Given the description of an element on the screen output the (x, y) to click on. 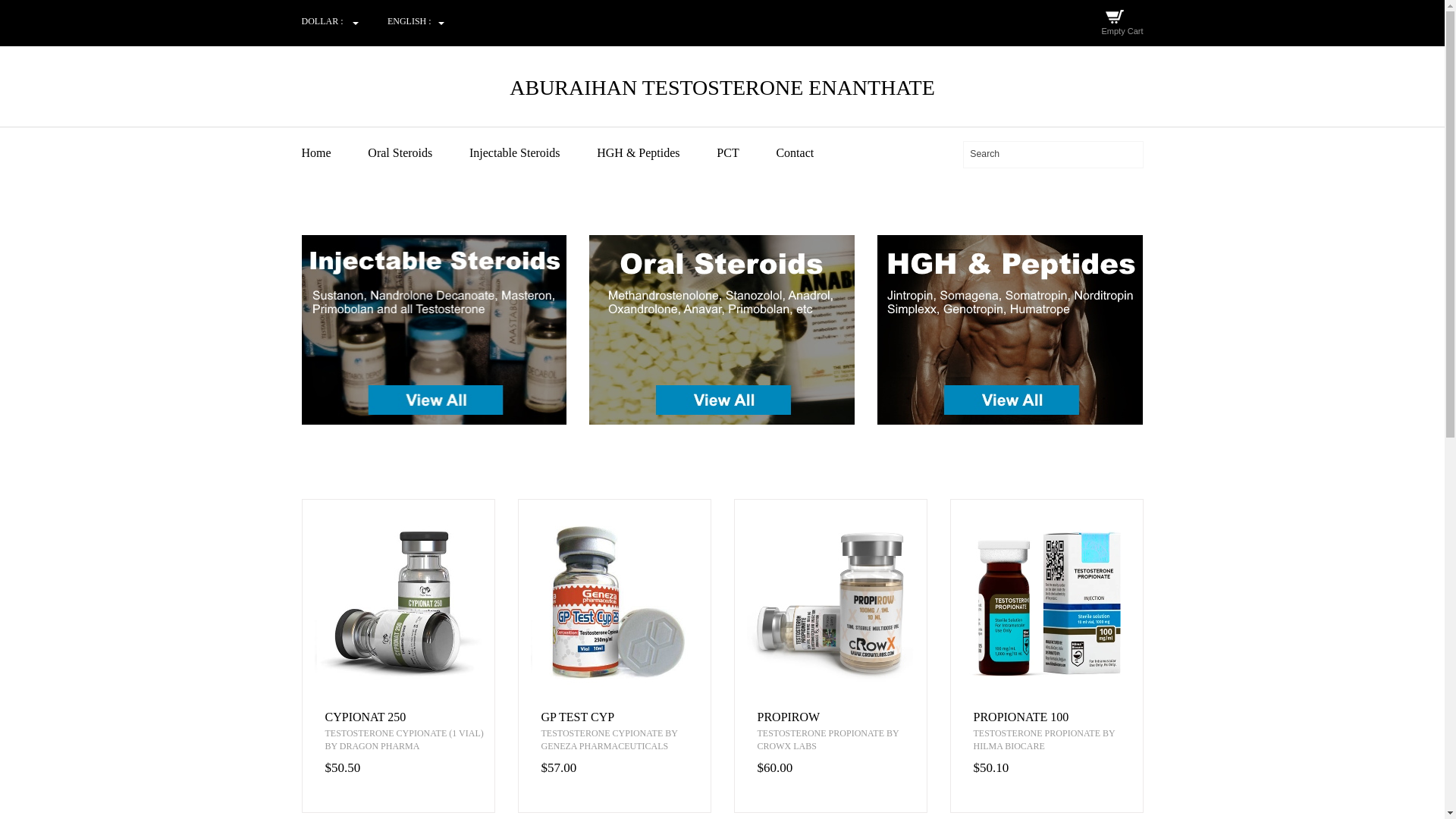
PROPIONATE 100 (1058, 716)
Oral Steroids (416, 153)
GP TEST CYP (625, 716)
Injectable Steroids (531, 153)
Contact (811, 153)
Home (333, 153)
PCT (744, 153)
CYPIONAT 250 (408, 716)
PROPIROW (841, 716)
Empty Cart (1121, 31)
